Given the description of an element on the screen output the (x, y) to click on. 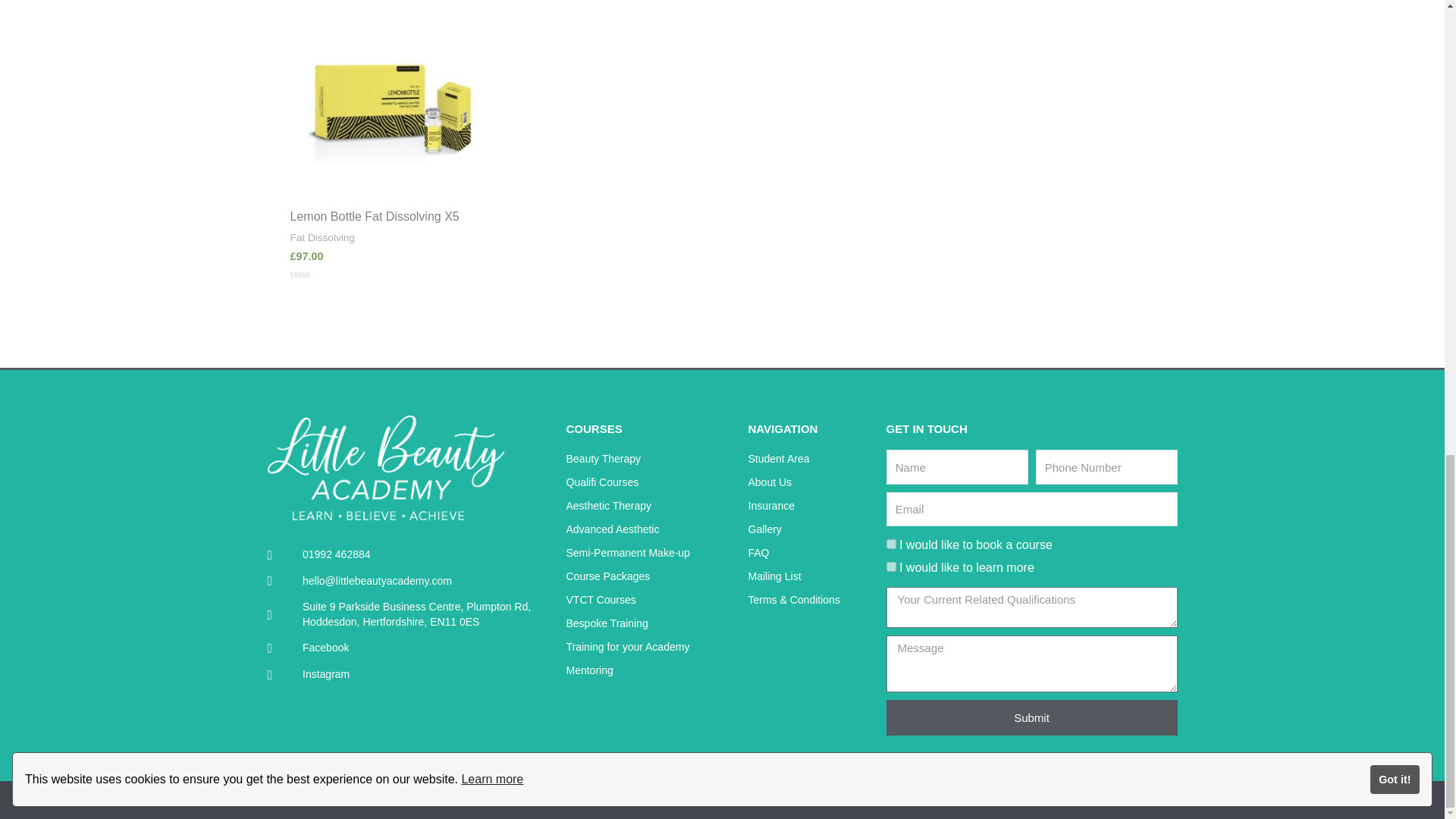
Beauty Therapy (649, 459)
I would like to learn more (890, 566)
I would like to book a course (890, 543)
Lemon Bottle Fat Dissolving X5 (392, 217)
Instagram (411, 674)
01992 462884 (411, 554)
Facebook (411, 648)
Qualifi Courses (649, 483)
Semi-Permanent Make-up (649, 553)
Advanced Aesthetic (649, 529)
Aesthetic Therapy (649, 506)
